Given the description of an element on the screen output the (x, y) to click on. 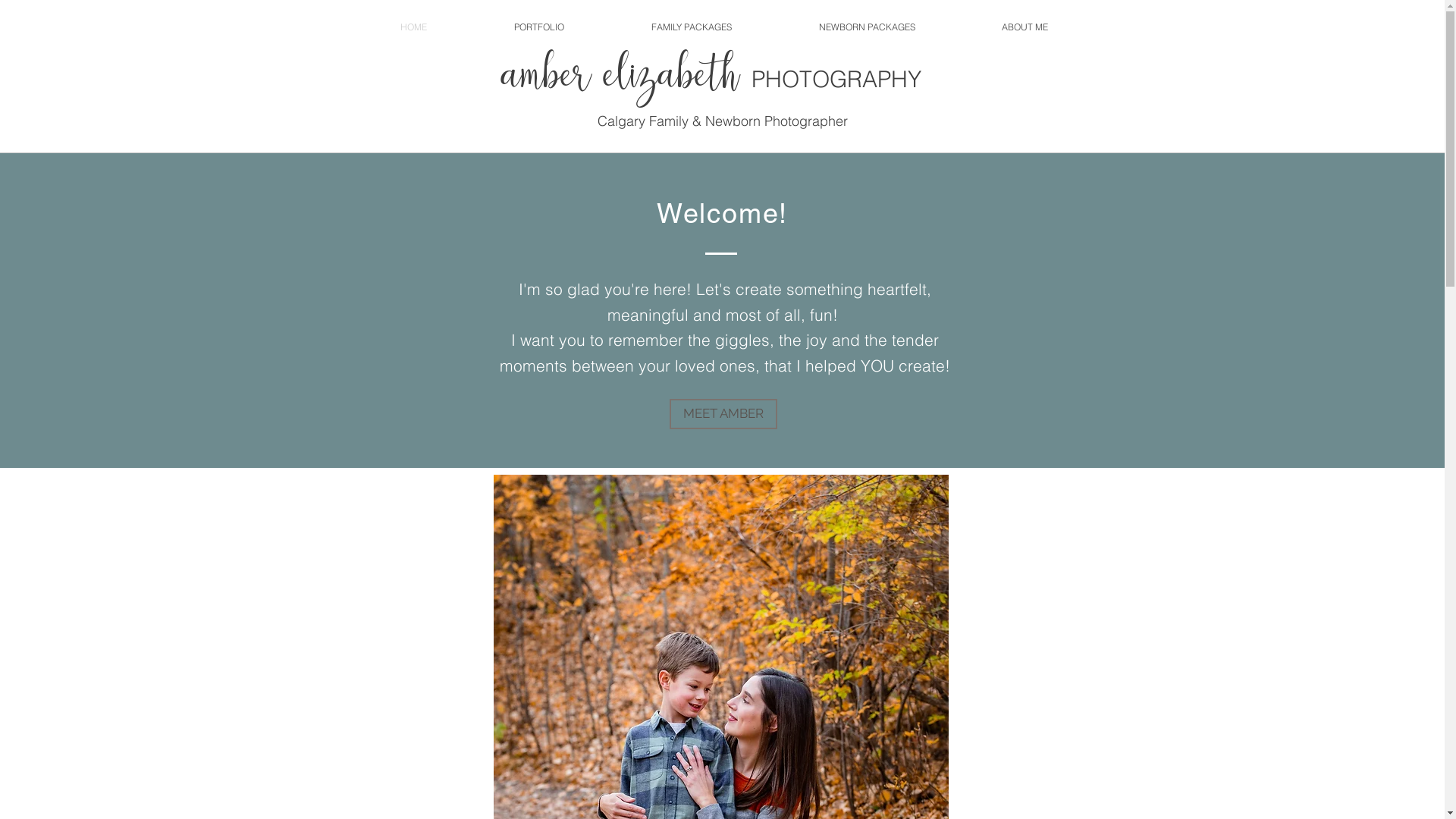
NEWBORN PACKAGES Element type: text (866, 26)
MEET AMBER Element type: text (722, 413)
HOME Element type: text (413, 26)
FAMILY PACKAGES Element type: text (691, 26)
ABOUT ME Element type: text (1024, 26)
PORTFOLIO Element type: text (538, 26)
